Given the description of an element on the screen output the (x, y) to click on. 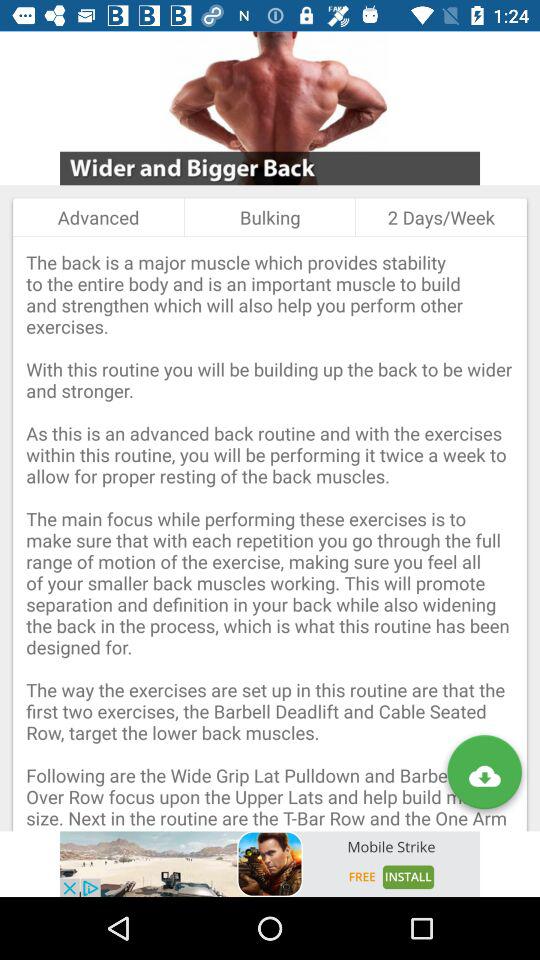
launch item below the advanced icon (269, 534)
